Given the description of an element on the screen output the (x, y) to click on. 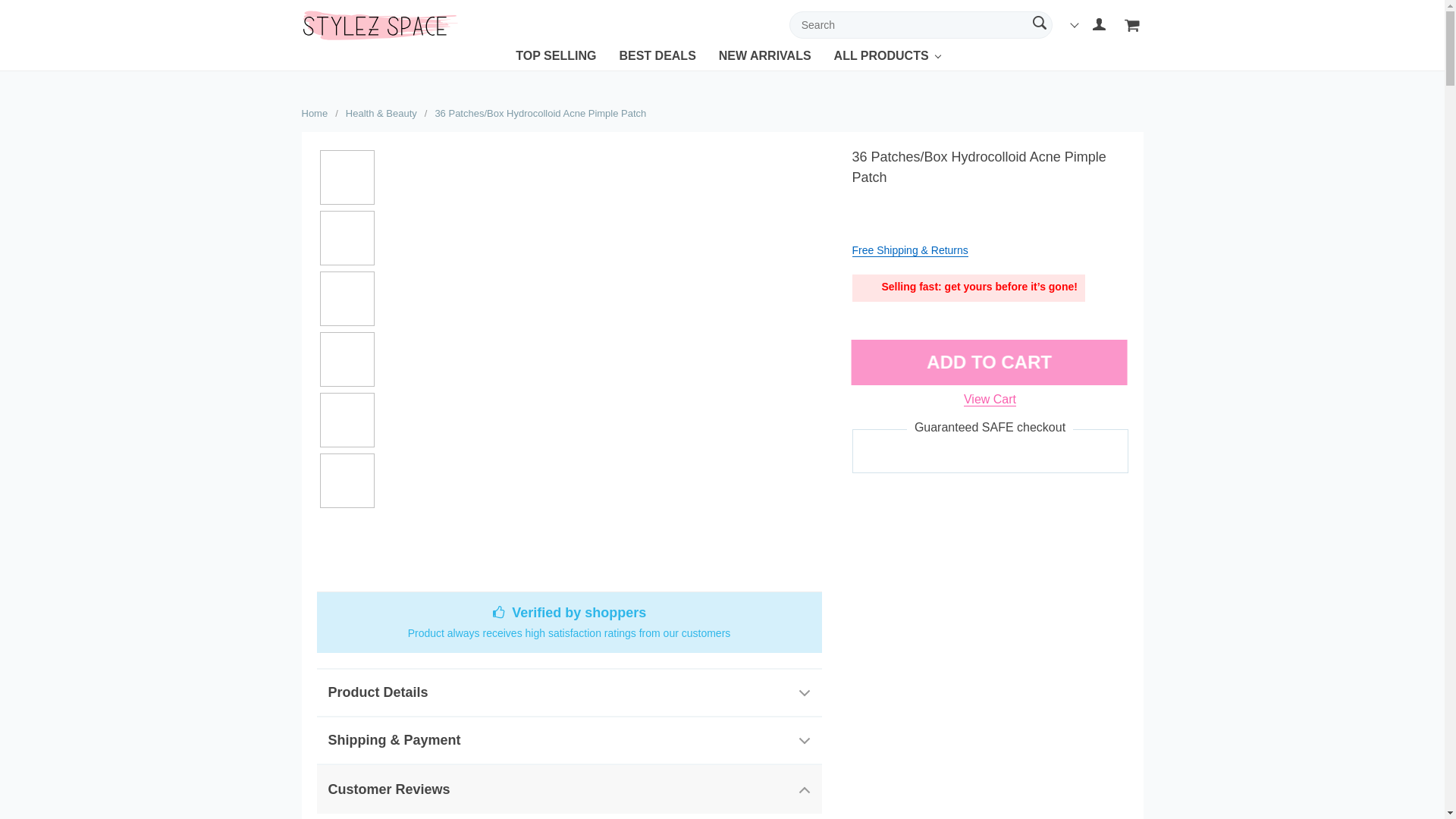
33118-ee53d0.jpg (347, 176)
ALL PRODUCTS (881, 59)
BEST DEALS (656, 59)
NEW ARRIVALS (764, 59)
33118-51ac95.jpg (347, 237)
33118-140b59.jpg (347, 480)
33118-1dc41f.jpg (347, 420)
TOP SELLING (555, 59)
33118-20b330.jpg (347, 298)
33118-0a781b.jpg (347, 359)
